Given the description of an element on the screen output the (x, y) to click on. 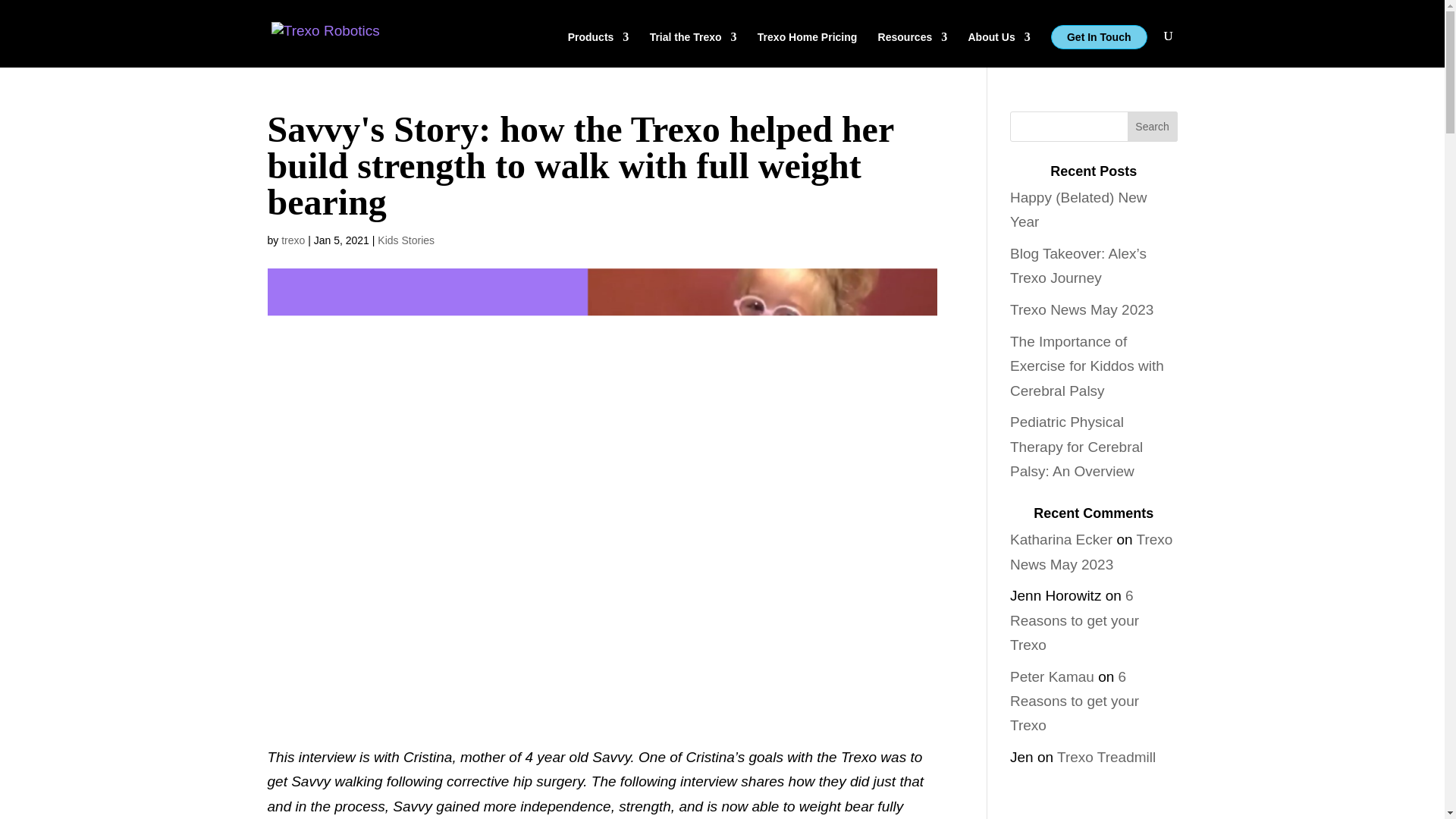
Search (1151, 126)
Trexo News May 2023 (1081, 309)
Posts by trexo (292, 240)
Resources (912, 49)
Search (1151, 126)
Kids Stories (405, 240)
The Importance of Exercise for Kiddos with Cerebral Palsy (1086, 365)
About Us (998, 49)
Trial the Trexo (692, 49)
trexo (292, 240)
Get In Touch (1099, 37)
Trexo Home Pricing (807, 49)
Products (597, 49)
